Given the description of an element on the screen output the (x, y) to click on. 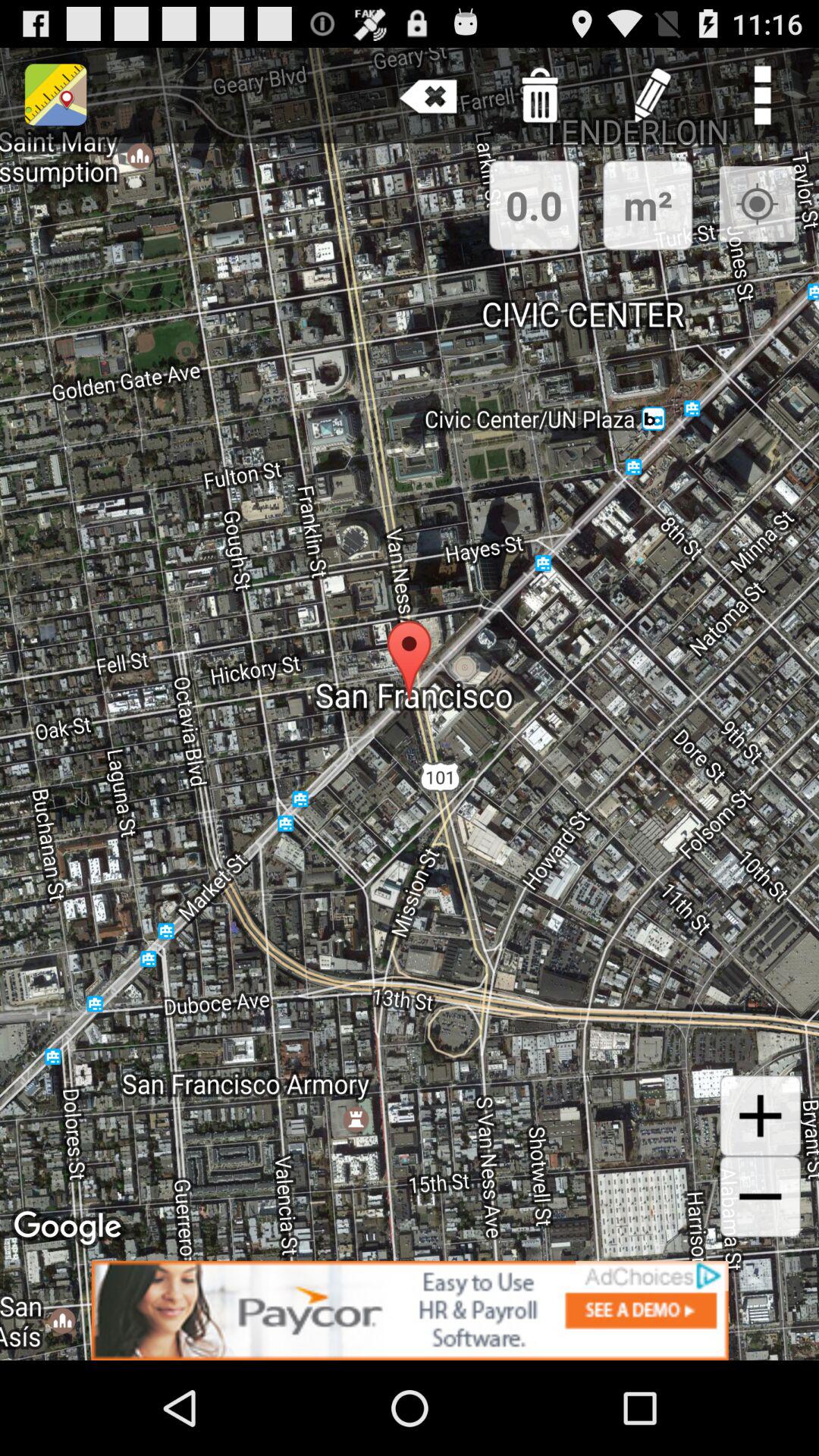
zoom in (760, 1115)
